Given the description of an element on the screen output the (x, y) to click on. 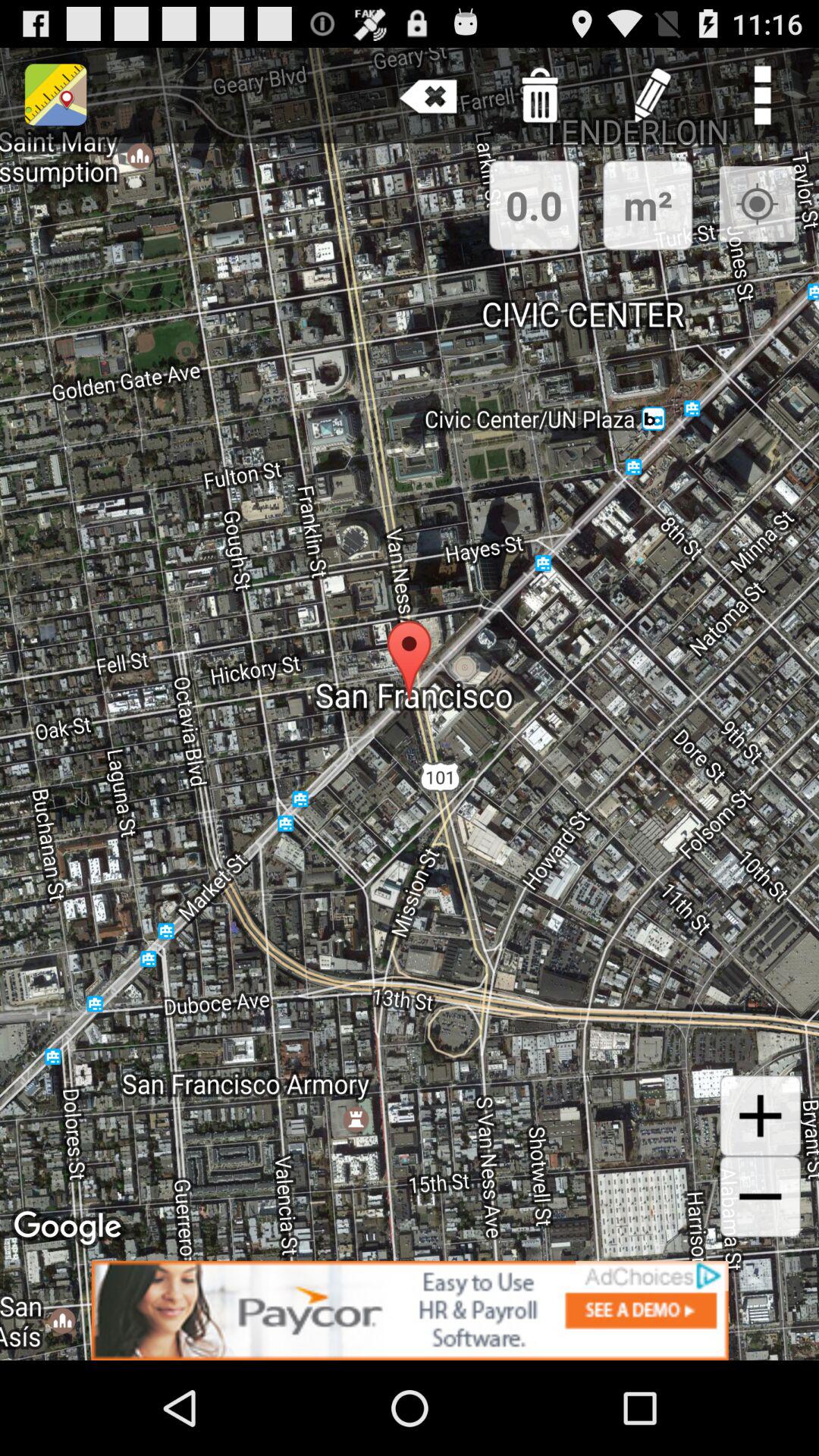
zoom in (760, 1115)
